Given the description of an element on the screen output the (x, y) to click on. 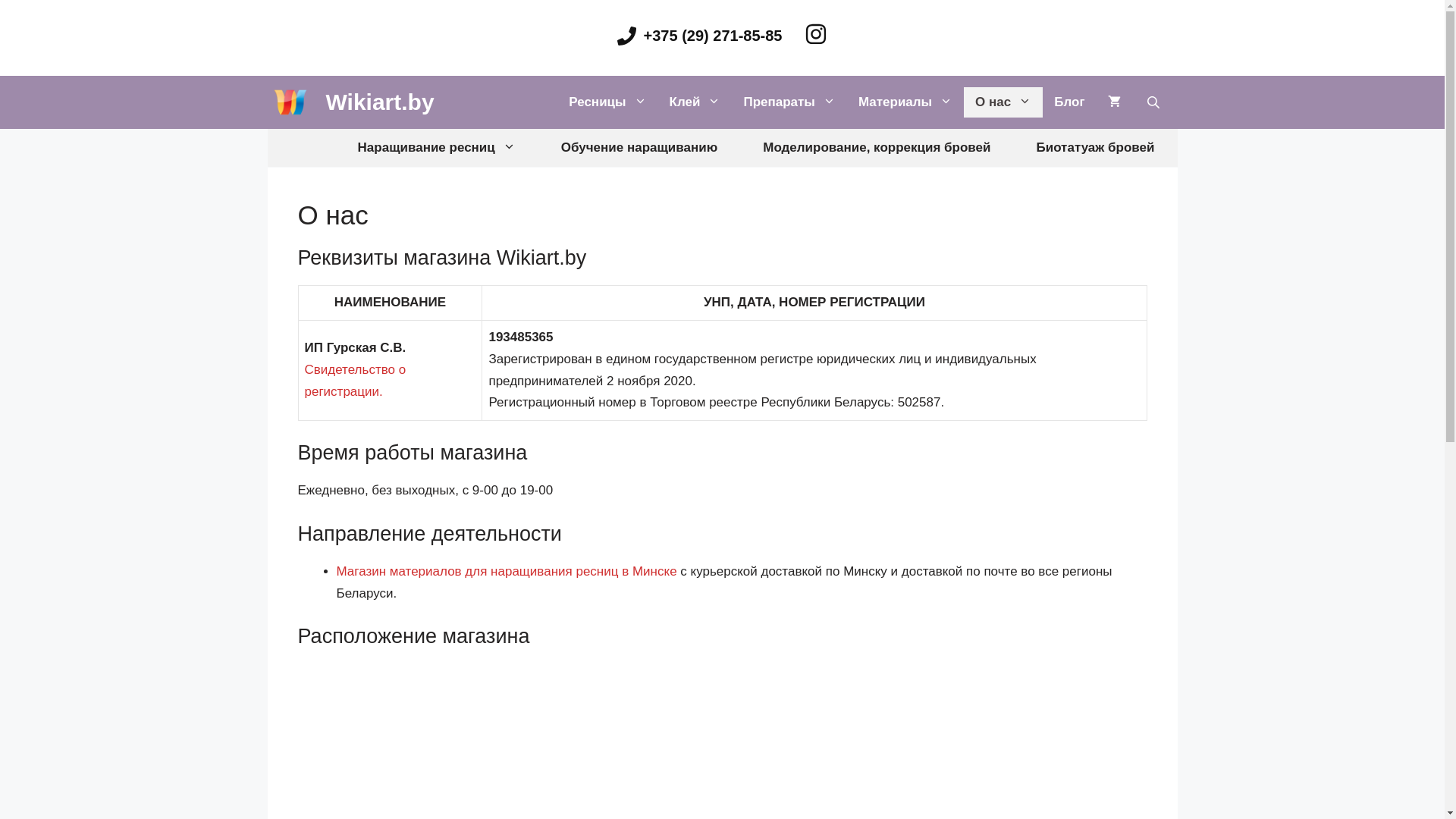
+375 (29) 271-85-85 Element type: text (699, 35)
Wikiart.by Element type: text (380, 101)
